Given the description of an element on the screen output the (x, y) to click on. 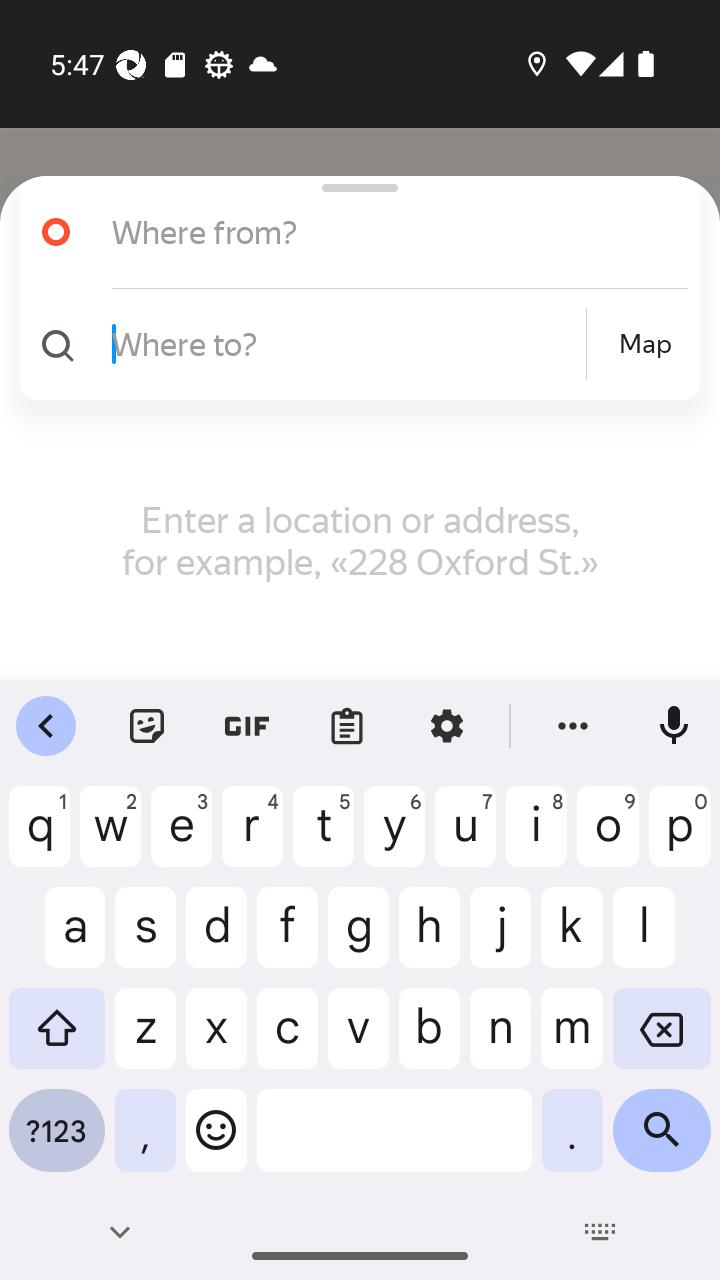
Where from? (352, 232)
Where from? (373, 232)
Where to? Map Map (352, 343)
Map (645, 343)
Where to? (346, 343)
